Given the description of an element on the screen output the (x, y) to click on. 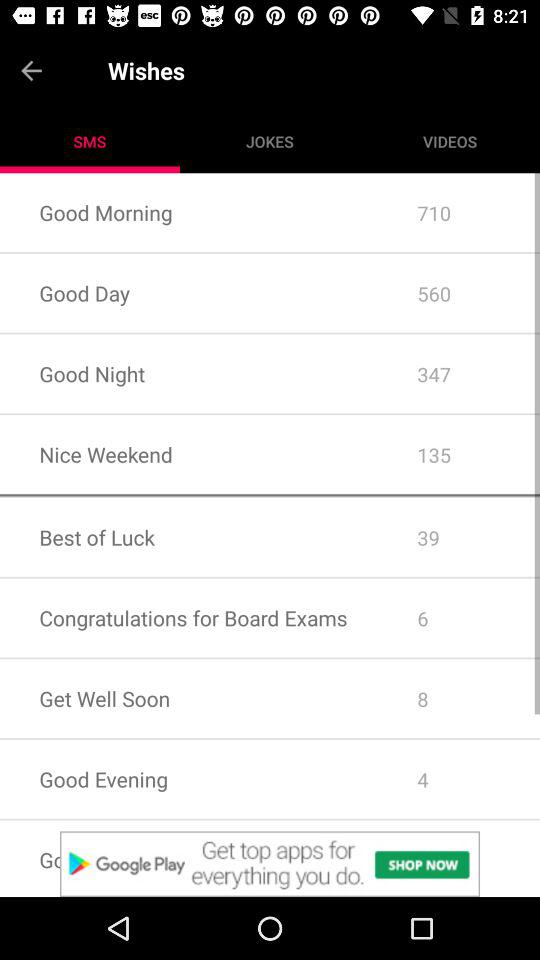
open app to the right of good morning icon (458, 293)
